Given the description of an element on the screen output the (x, y) to click on. 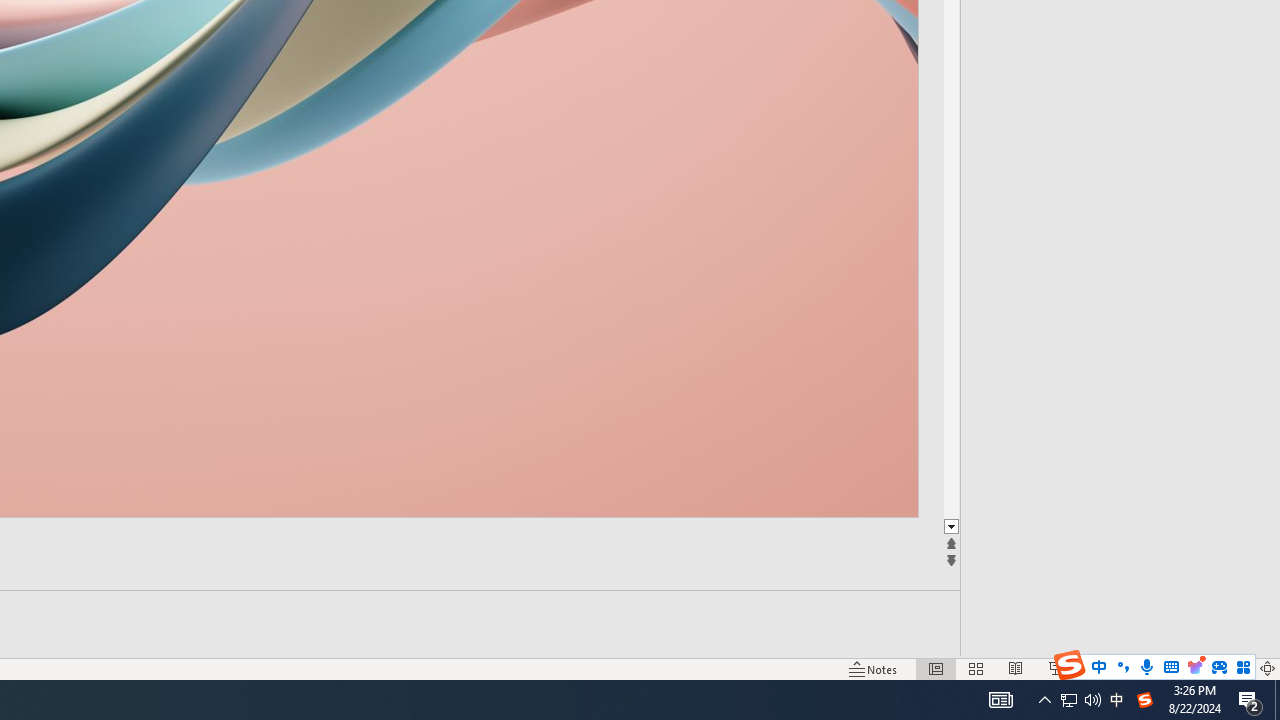
Zoom 140% (1234, 668)
